Given the description of an element on the screen output the (x, y) to click on. 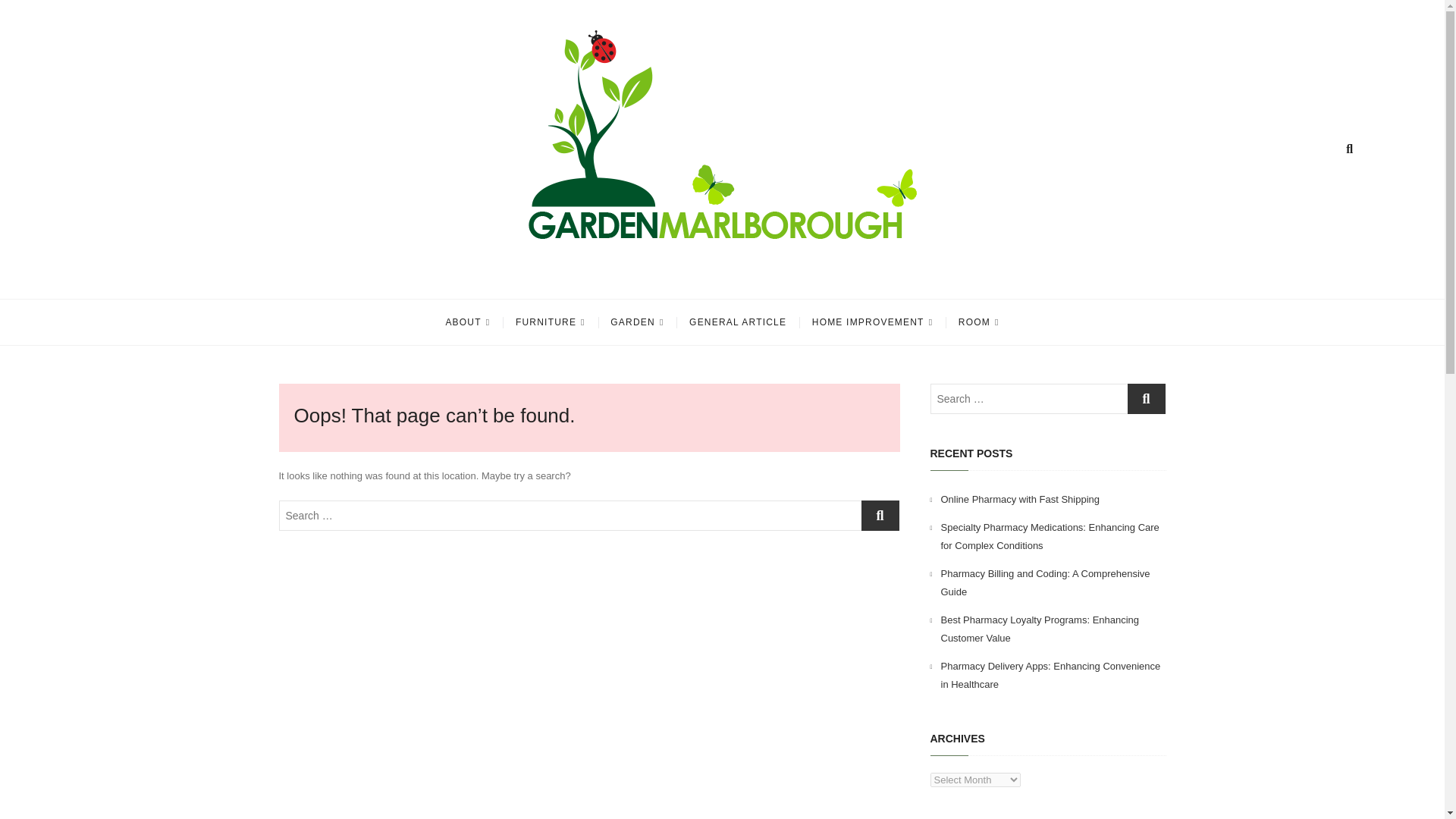
Garden Marlborough (429, 278)
ABOUT (466, 321)
Garden Marlborough (429, 278)
FURNITURE (549, 321)
GARDEN (636, 321)
HOME IMPROVEMENT (871, 321)
GENERAL ARTICLE (737, 321)
